Given the description of an element on the screen output the (x, y) to click on. 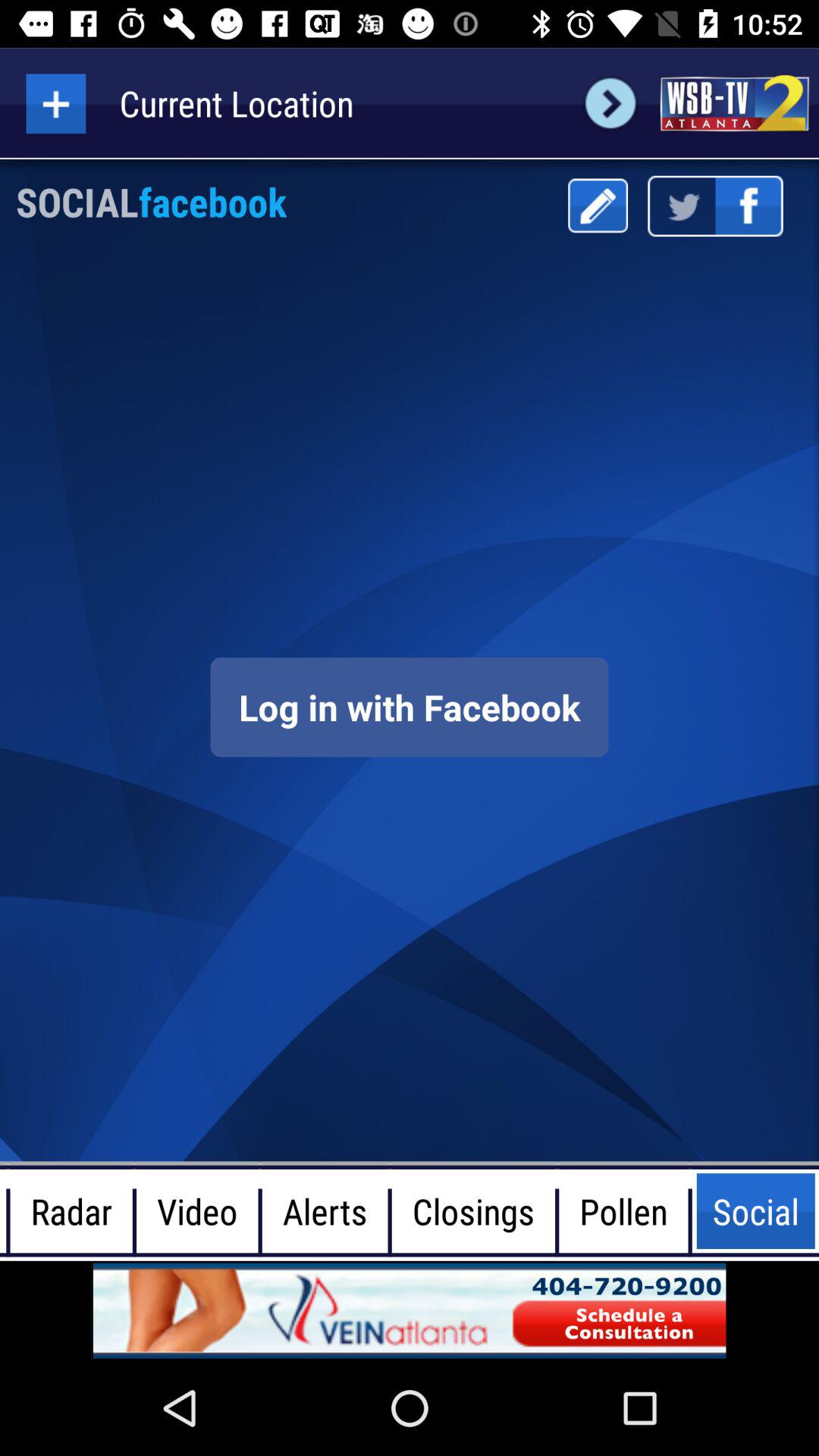
log in with facebook (409, 707)
